Given the description of an element on the screen output the (x, y) to click on. 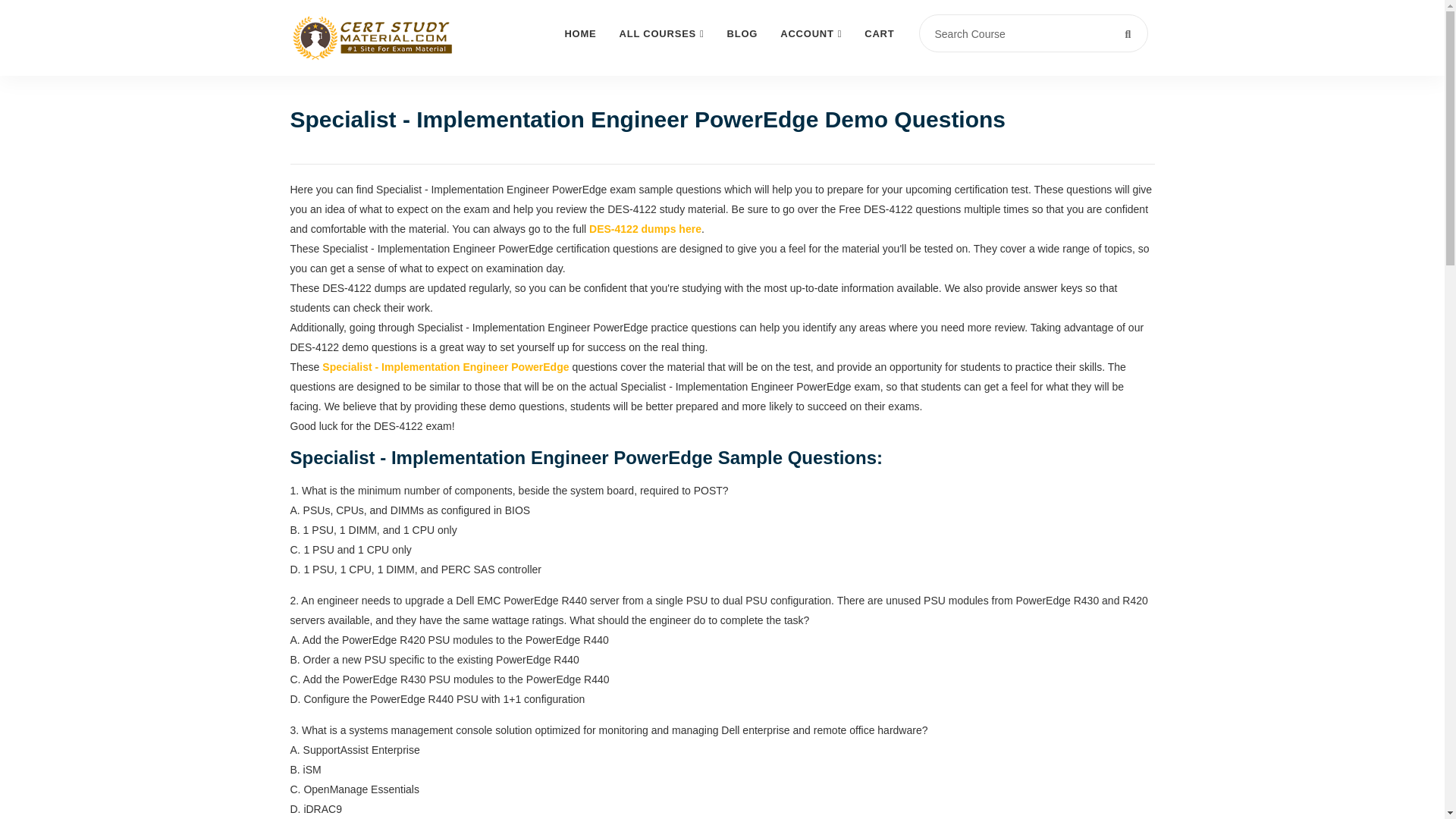
ALL COURSES (662, 33)
HOME (580, 33)
